Given the description of an element on the screen output the (x, y) to click on. 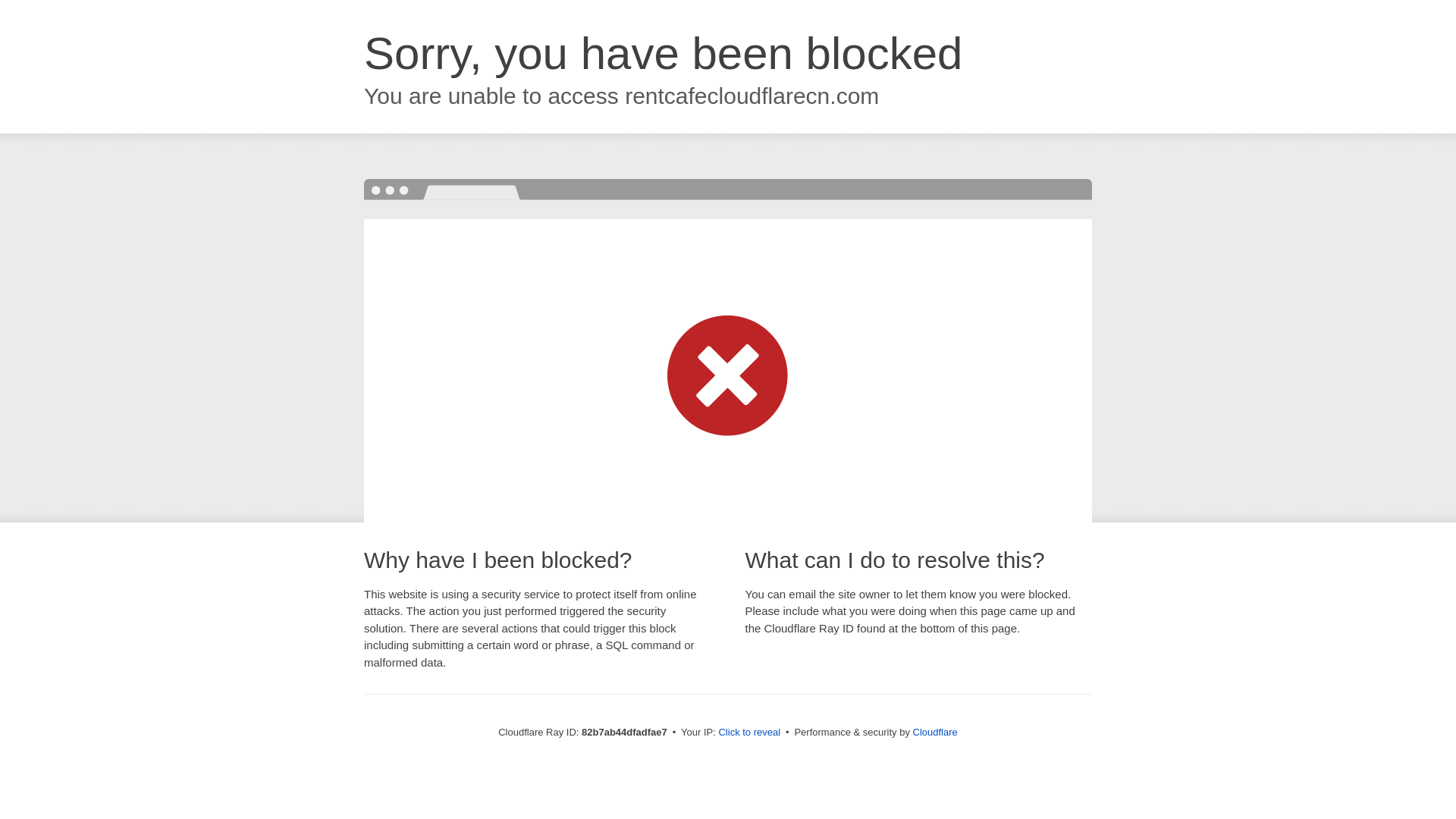
Cloudflare Element type: text (935, 731)
Click to reveal Element type: text (749, 732)
